Given the description of an element on the screen output the (x, y) to click on. 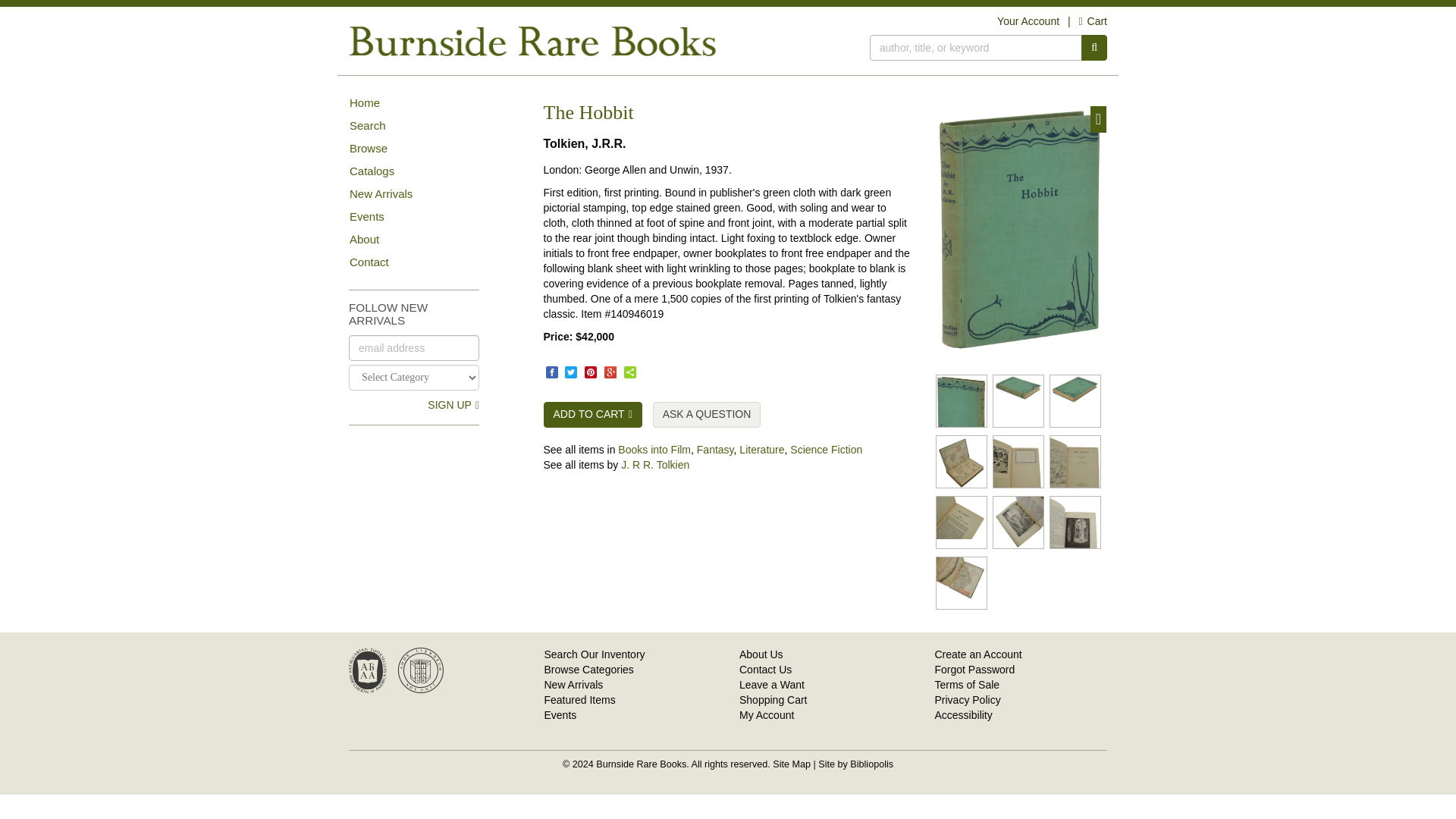
Search (435, 125)
The Hobbit (1017, 400)
Books into Film (653, 449)
The Hobbit (1074, 400)
The Hobbit (961, 400)
Skip to main content (8, 13)
Cart (1092, 21)
Your Account (1028, 21)
Events (435, 216)
The Hobbit (961, 461)
